Given the description of an element on the screen output the (x, y) to click on. 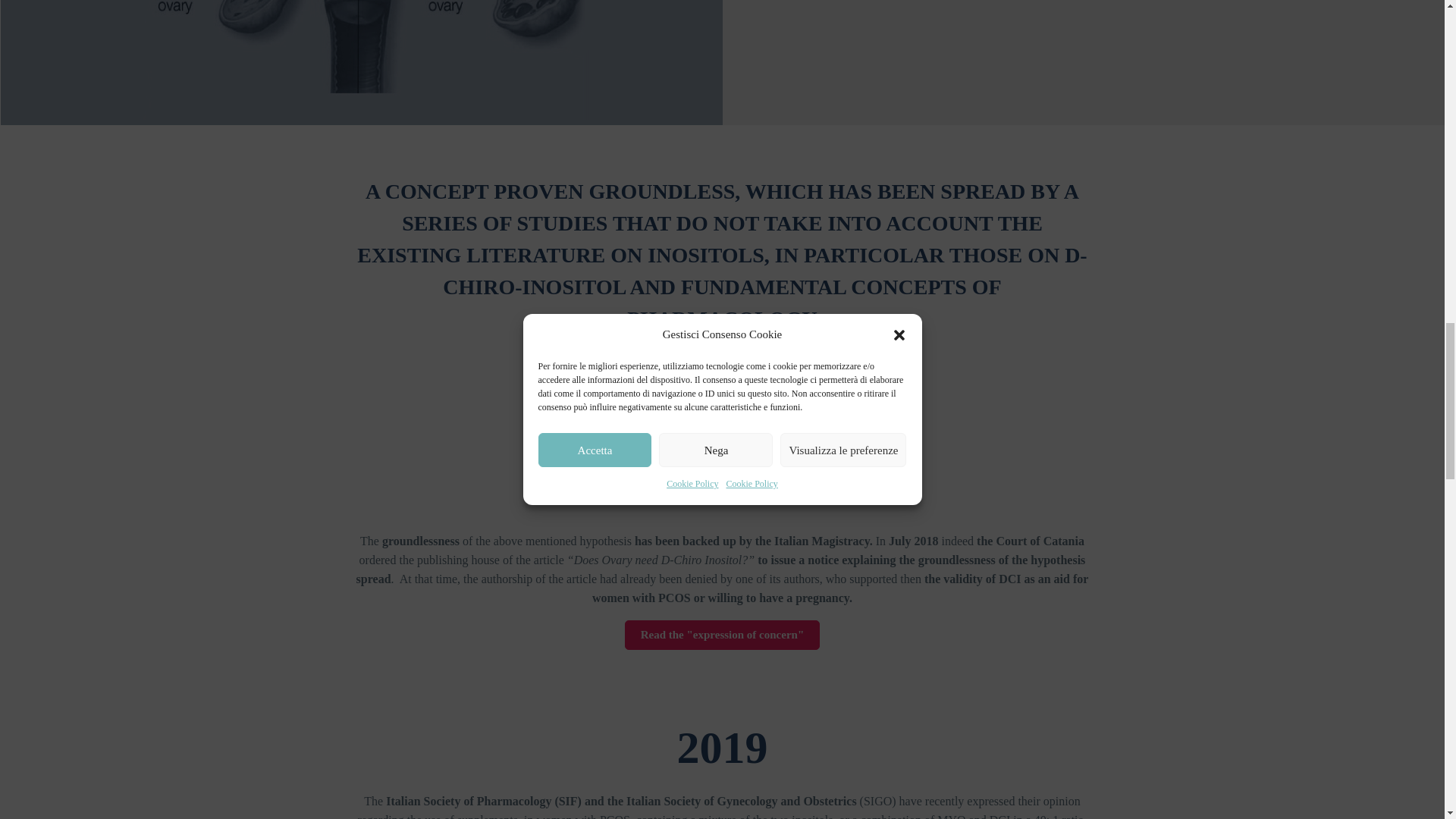
Read the Opinion paper of SIF (722, 363)
Read the "expression of concern" (722, 634)
